Given the description of an element on the screen output the (x, y) to click on. 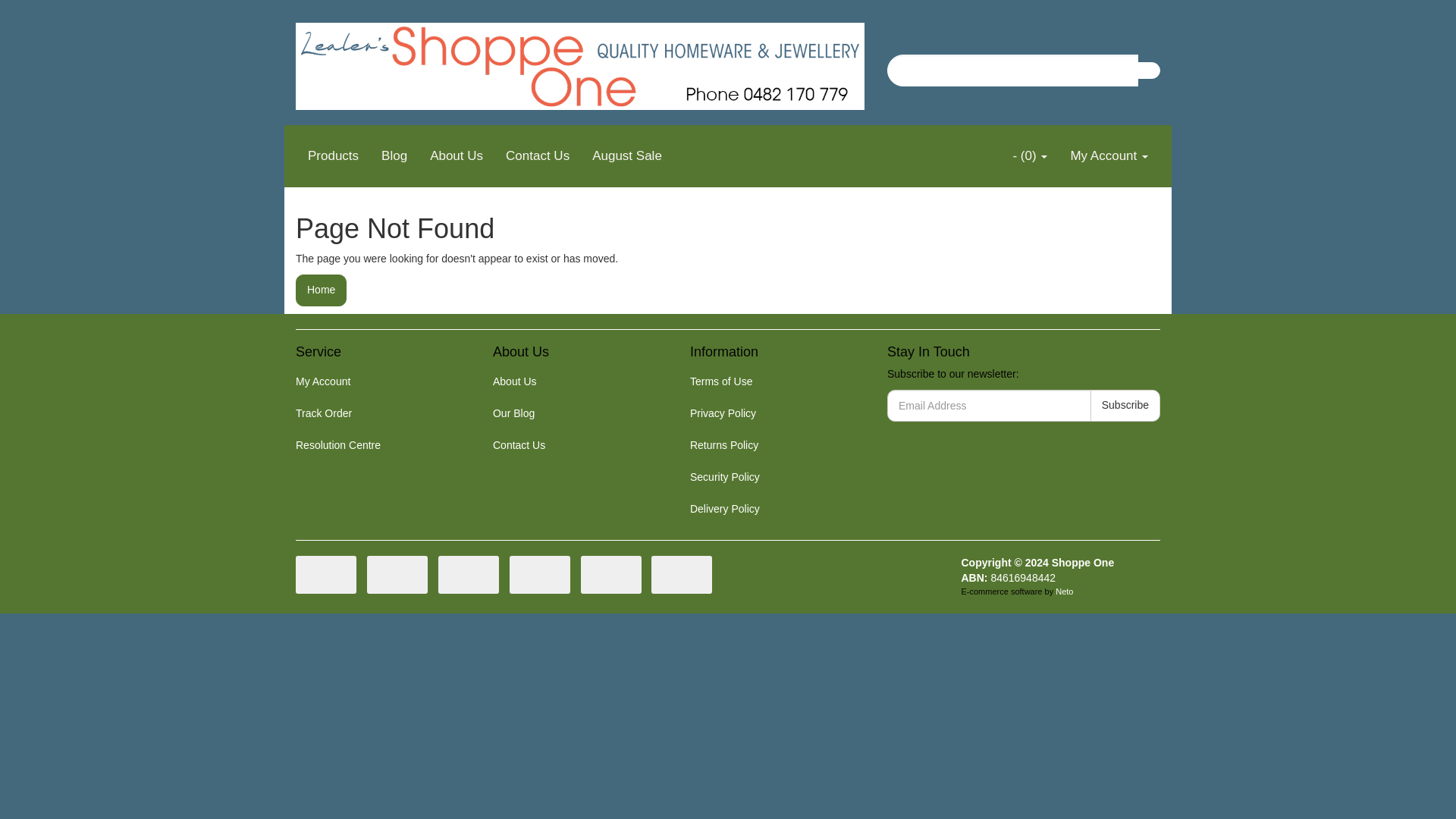
Resolution Centre (376, 445)
Products (333, 156)
Search (1148, 70)
Terms of Use (771, 381)
Contact Us (537, 156)
Privacy Policy (771, 413)
About Us (457, 156)
About Us (573, 381)
August Sale (626, 156)
Returns Policy (771, 445)
